Given the description of an element on the screen output the (x, y) to click on. 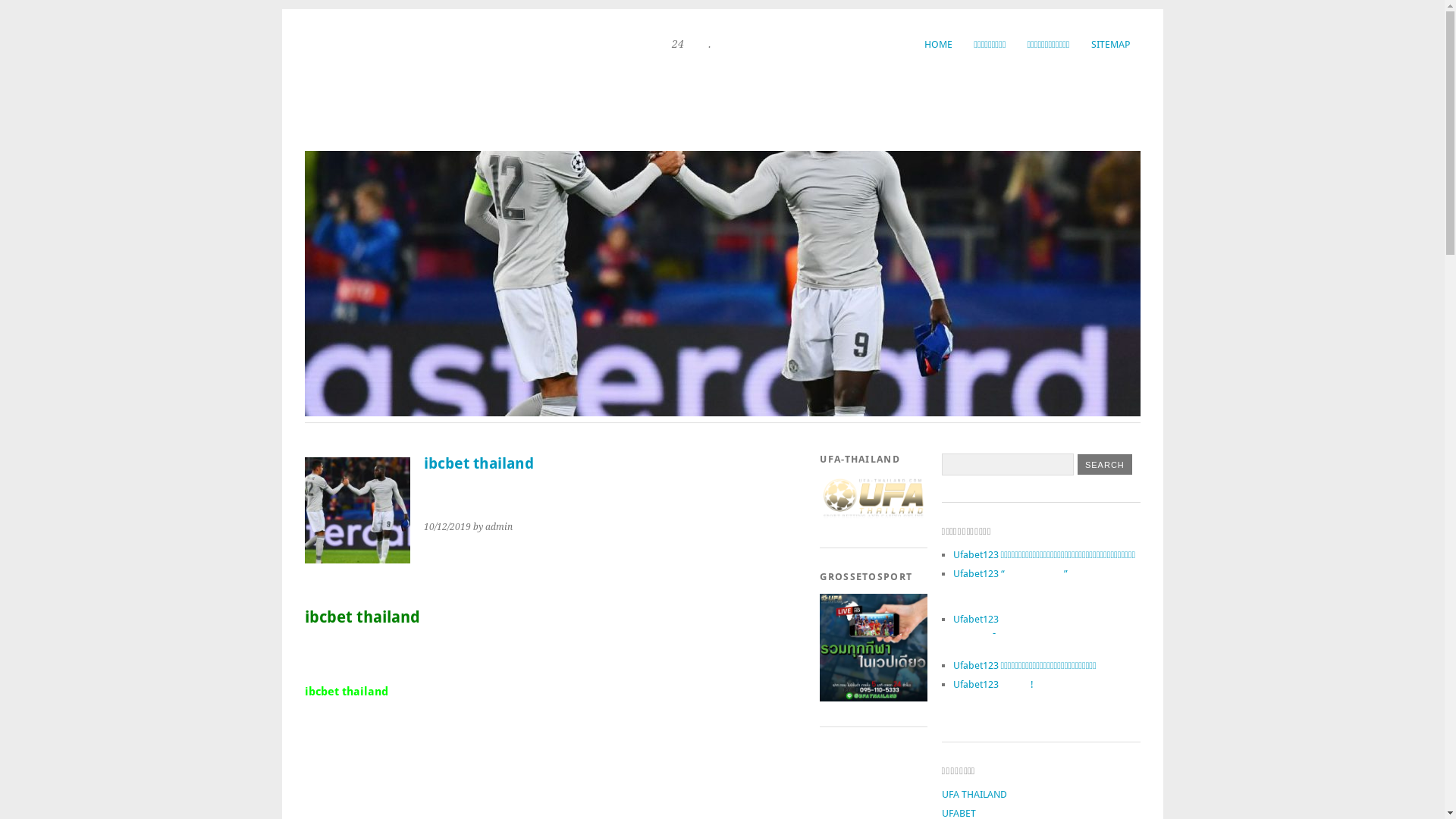
Search Element type: text (1104, 464)
SITEMAP Element type: text (1109, 43)
UFA THAILAND Element type: text (974, 794)
UFABET Element type: text (958, 812)
HOME Element type: text (938, 43)
